Given the description of an element on the screen output the (x, y) to click on. 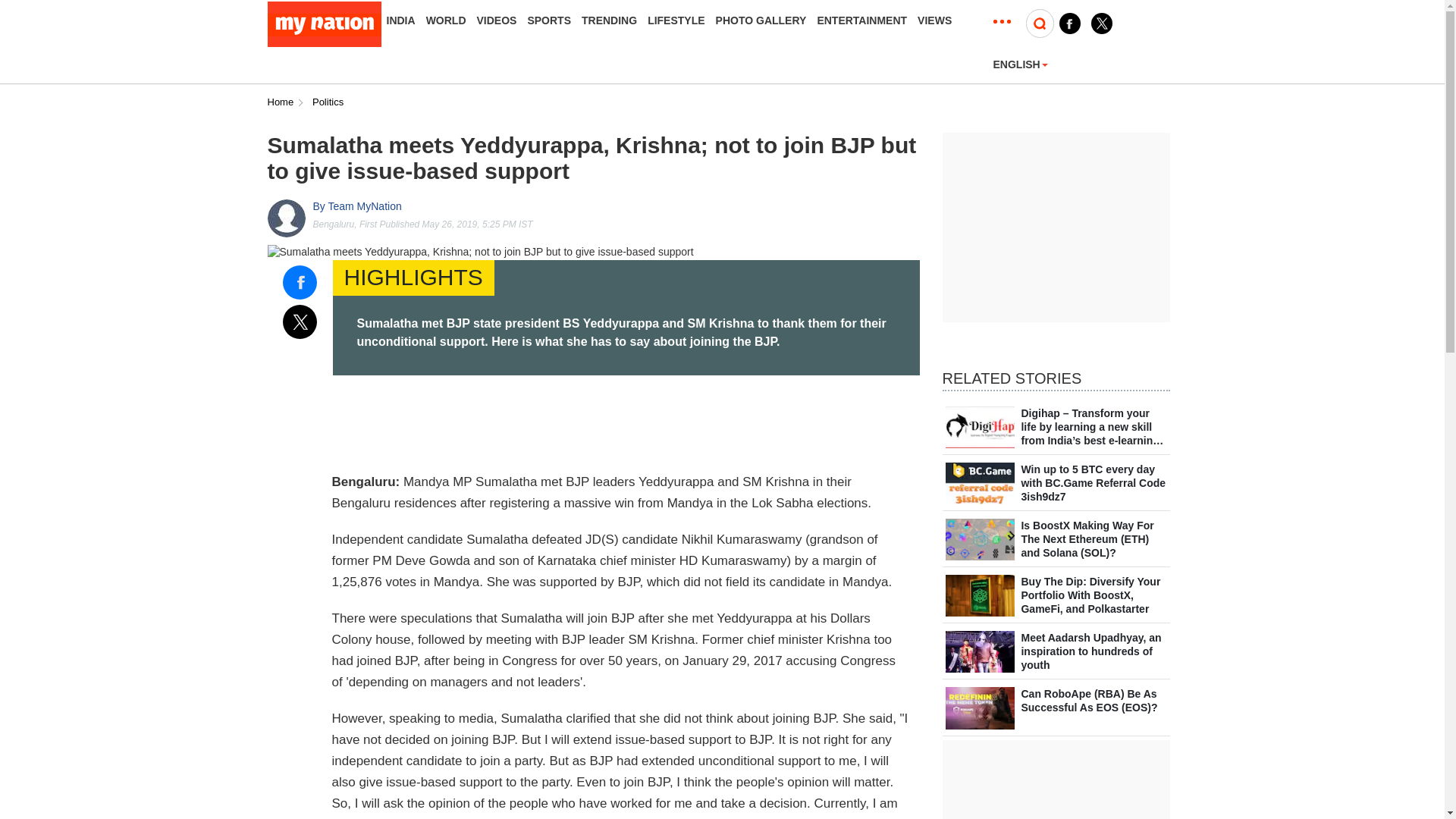
ENGLISH (1020, 64)
World (446, 20)
Politics (328, 102)
MyNation (323, 24)
Photo Gallery (761, 20)
PHOTO GALLERY (761, 20)
Entertainment (861, 20)
VIEWS (934, 20)
Views (934, 20)
INDIA (400, 20)
Videos (497, 20)
SPORTS (548, 20)
TRENDING (609, 20)
VIDEOS (497, 20)
MyNation (323, 23)
